Given the description of an element on the screen output the (x, y) to click on. 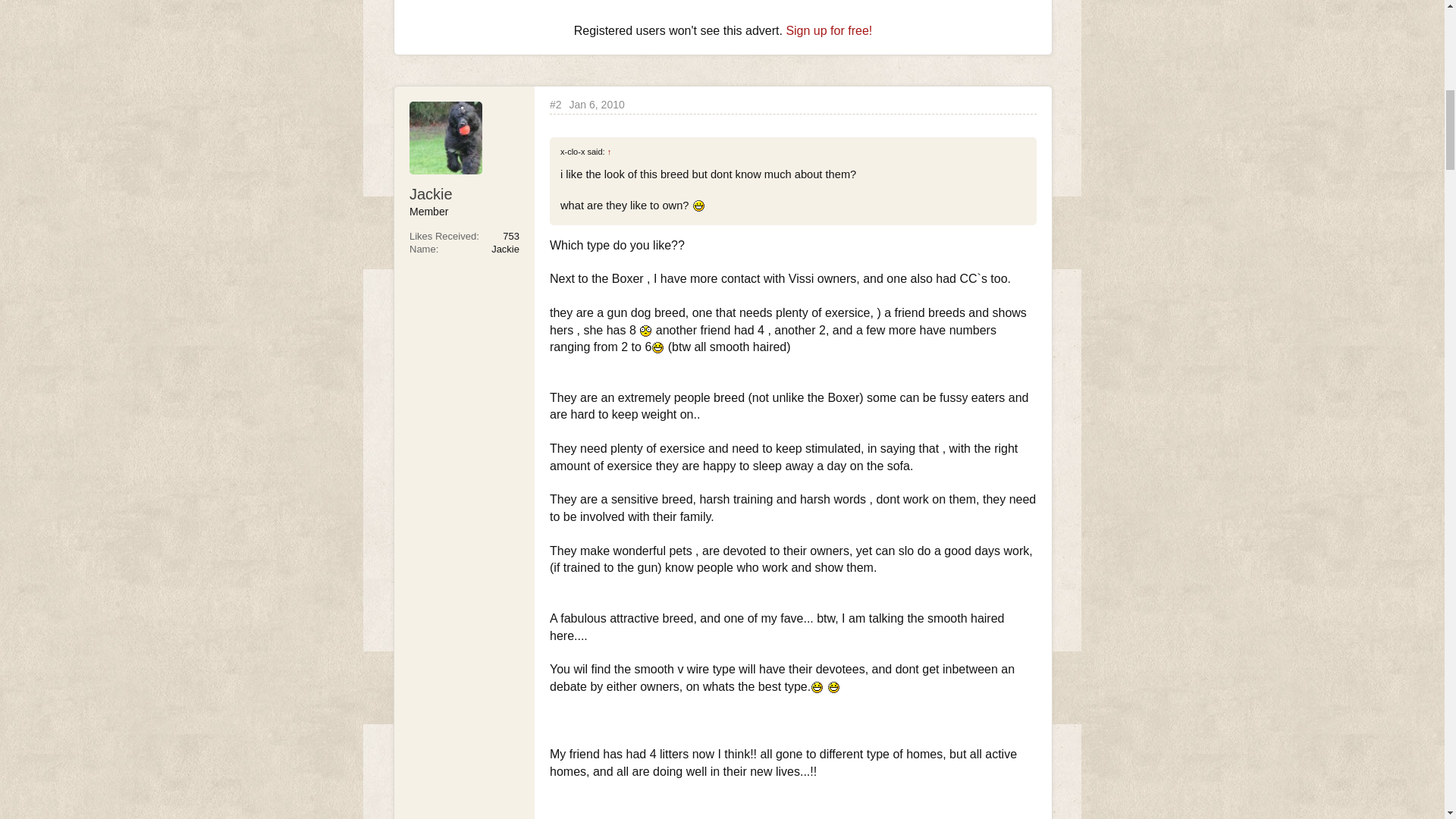
Icon Eek    :shock: (645, 330)
Icon Lol    :lol: (816, 686)
Permalink (596, 104)
Icon Lol    :lol: (657, 347)
Jan 6, 2010 (596, 104)
Permalink (556, 105)
grin    :grin: (698, 205)
Sign up for free! (829, 30)
Jackie (464, 194)
Icon Lol    :lol: (834, 686)
